Given the description of an element on the screen output the (x, y) to click on. 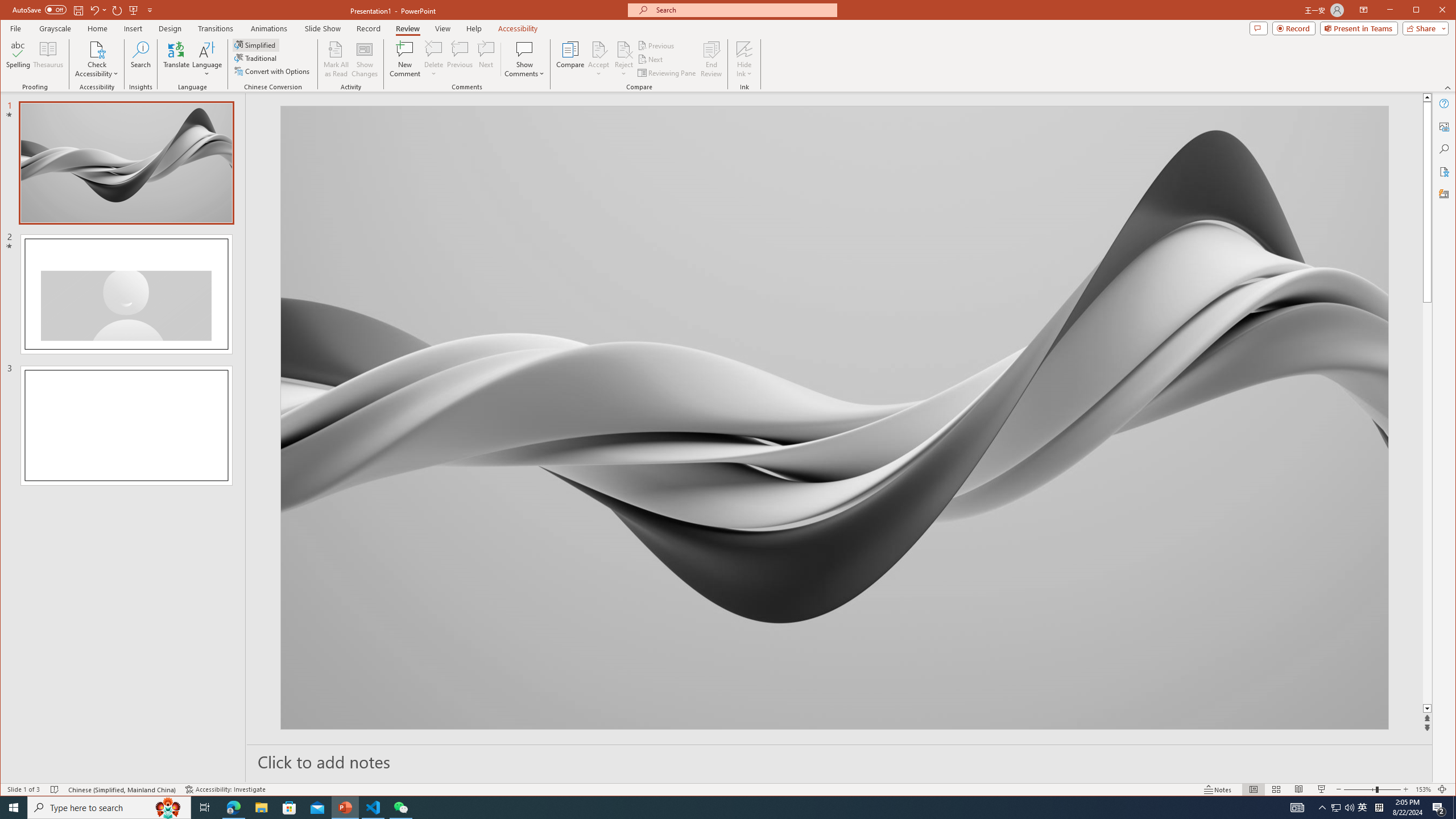
Reject (623, 59)
